Given the description of an element on the screen output the (x, y) to click on. 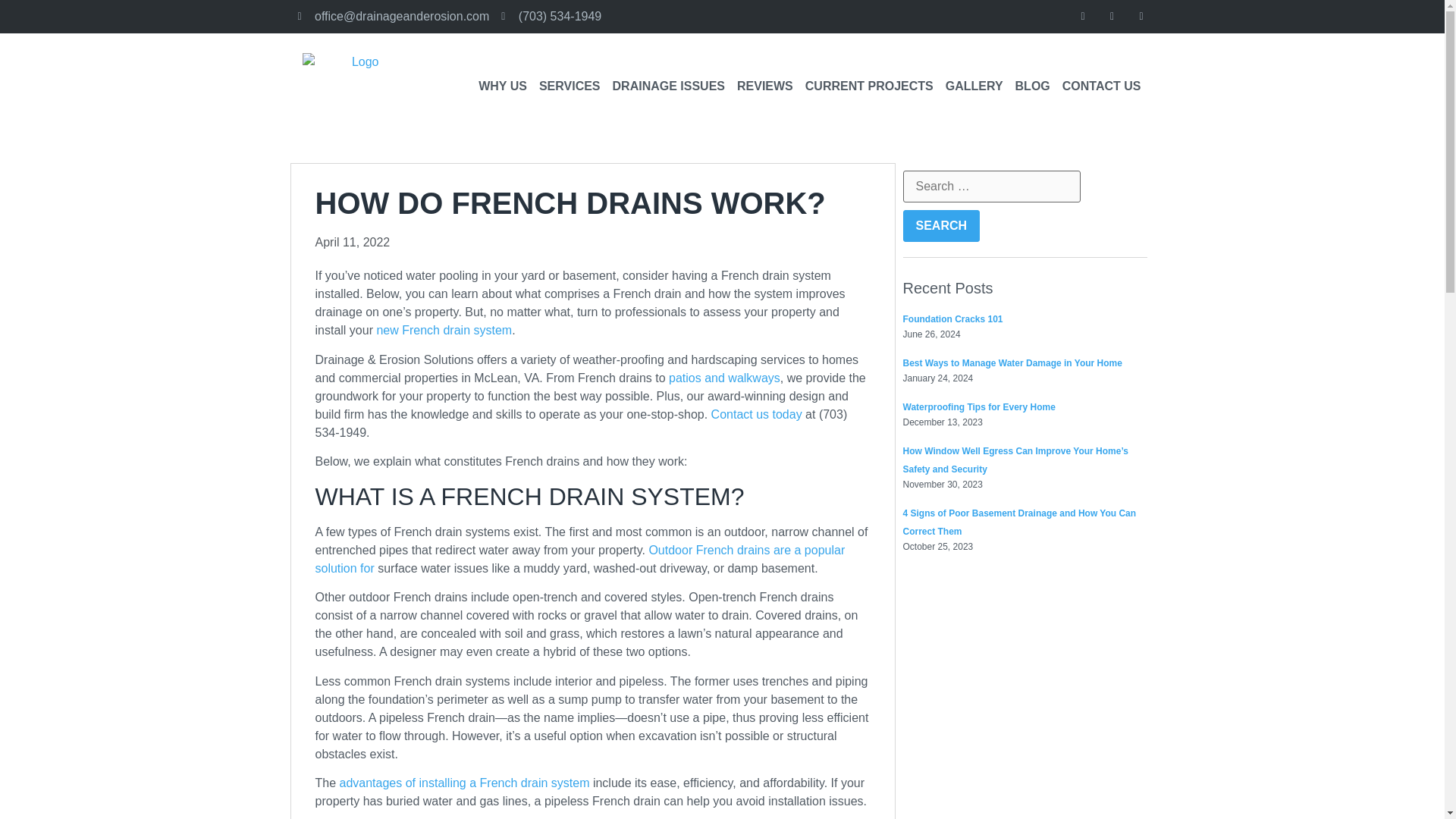
BLOG (1033, 86)
CURRENT PROJECTS (869, 86)
SERVICES (569, 86)
WHY US (501, 86)
CONTACT US (1102, 86)
Search (940, 225)
DRAINAGE ISSUES (668, 86)
Search (940, 225)
REVIEWS (764, 86)
GALLERY (974, 86)
